Given the description of an element on the screen output the (x, y) to click on. 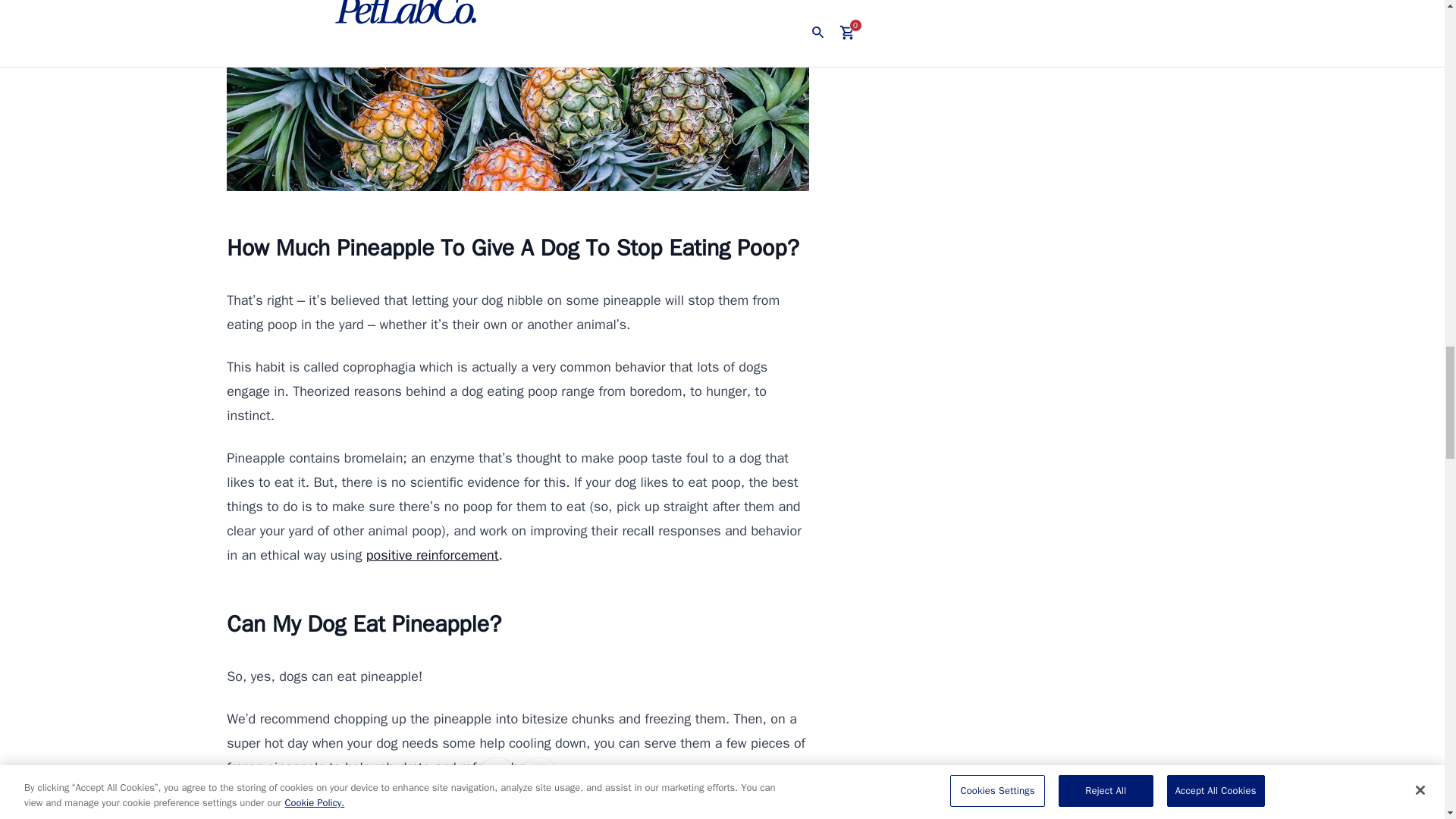
positive reinforcement (432, 555)
